Given the description of an element on the screen output the (x, y) to click on. 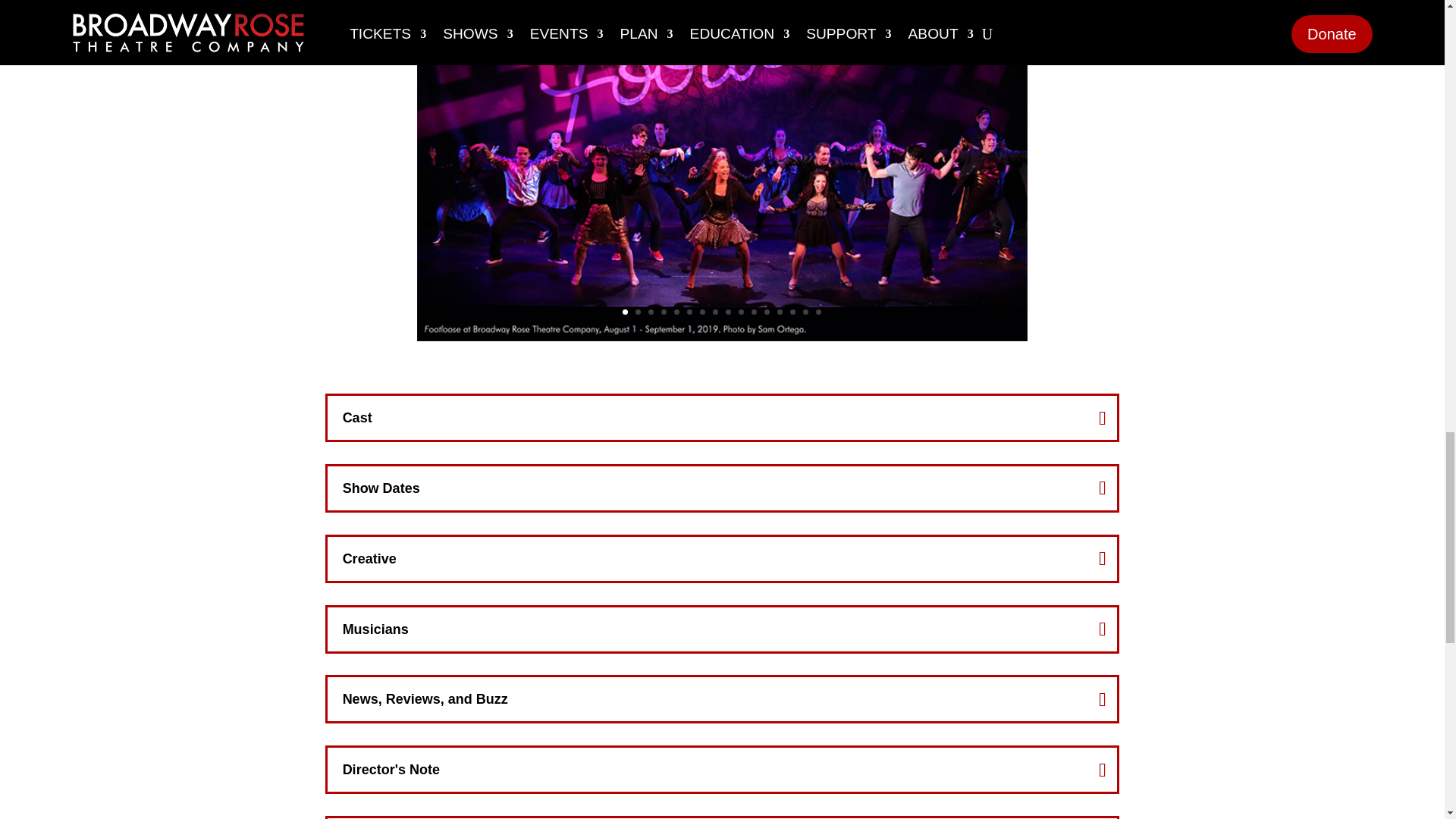
Footloose-13.jpgWeb (721, 336)
